Given the description of an element on the screen output the (x, y) to click on. 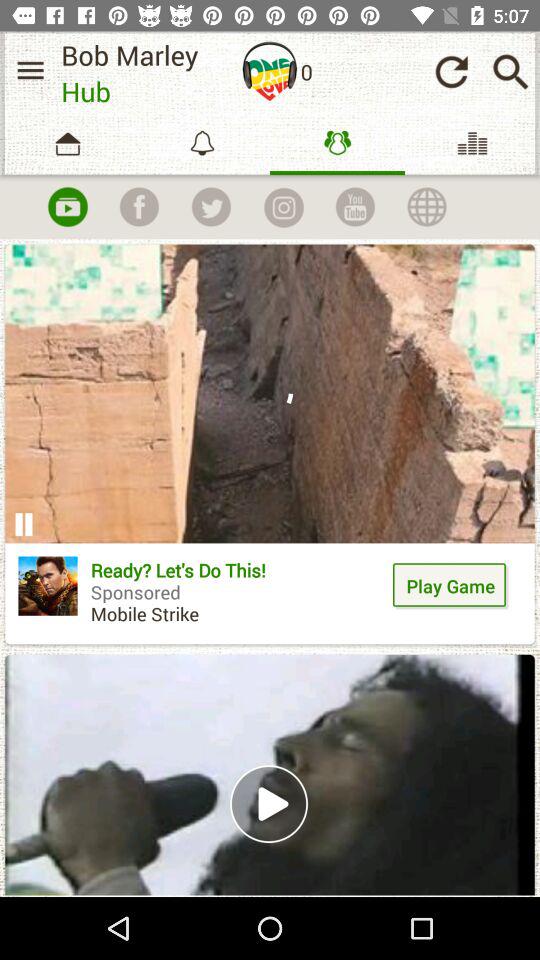
connect to facebook (139, 207)
